Given the description of an element on the screen output the (x, y) to click on. 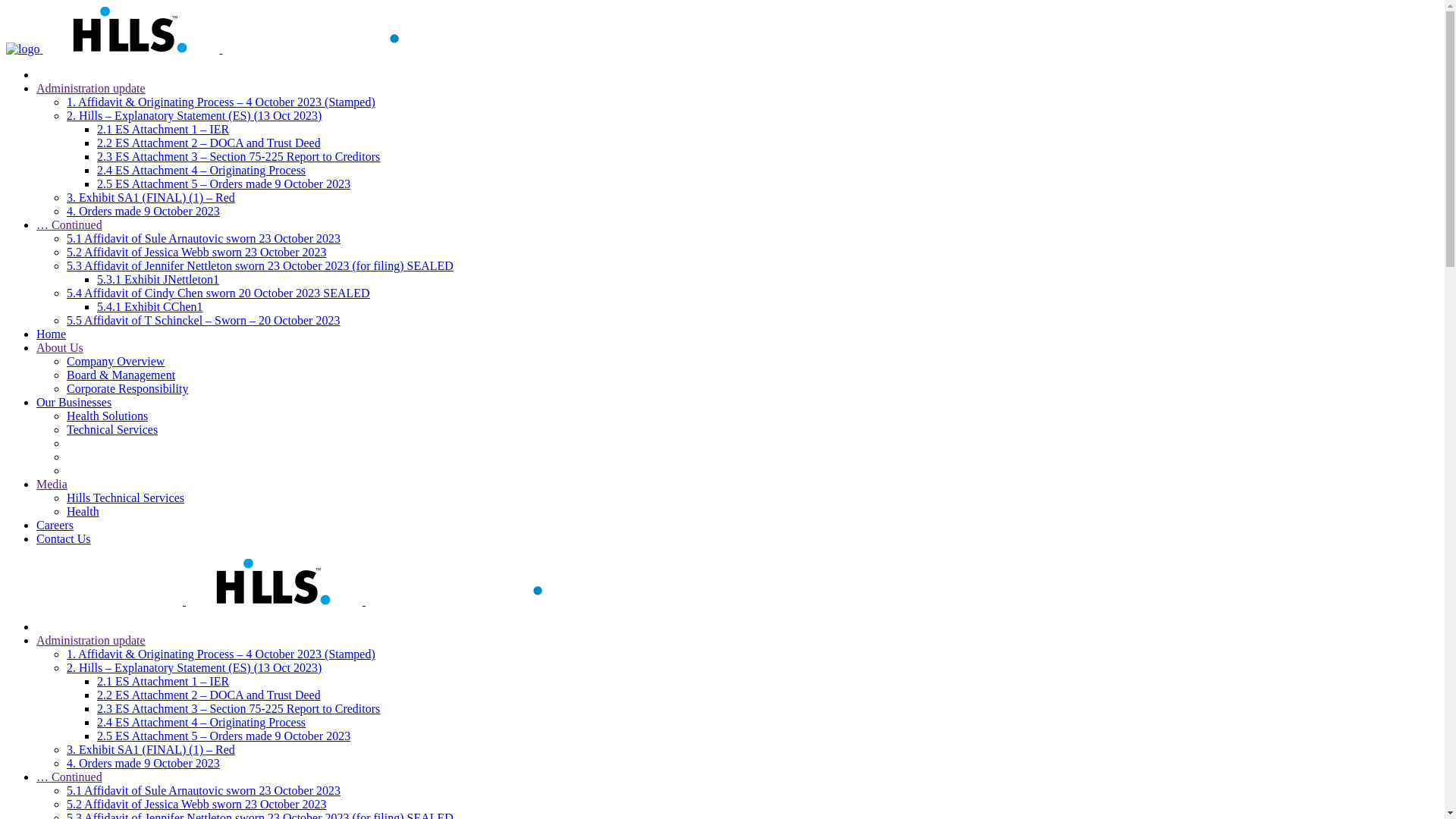
Corporate Responsibility Element type: text (127, 388)
Board & Management Element type: text (120, 374)
5.1 Affidavit of Sule Arnautovic sworn 23 October 2023 Element type: text (203, 238)
Contact Us Element type: text (63, 538)
5.2 Affidavit of Jessica Webb sworn 23 October 2023 Element type: text (196, 251)
Media Element type: text (51, 483)
Company Overview Element type: text (115, 360)
4. Orders made 9 October 2023 Element type: text (142, 762)
Home Element type: text (50, 333)
5.4.1 Exhibit CChen1 Element type: text (150, 306)
5.3.1 Exhibit JNettleton1 Element type: text (158, 279)
Our Businesses Element type: text (73, 401)
5.4 Affidavit of Cindy Chen sworn 20 October 2023 SEALED Element type: text (218, 292)
5.1 Affidavit of Sule Arnautovic sworn 23 October 2023 Element type: text (203, 790)
Careers Element type: text (54, 524)
4. Orders made 9 October 2023 Element type: text (142, 210)
Health Element type: text (82, 511)
Technical Services Element type: text (111, 429)
Administration update Element type: text (90, 87)
5.2 Affidavit of Jessica Webb sworn 23 October 2023 Element type: text (196, 803)
Administration update Element type: text (90, 639)
About Us Element type: text (59, 347)
Hills Technical Services Element type: text (125, 497)
Health Solutions Element type: text (106, 415)
